Given the description of an element on the screen output the (x, y) to click on. 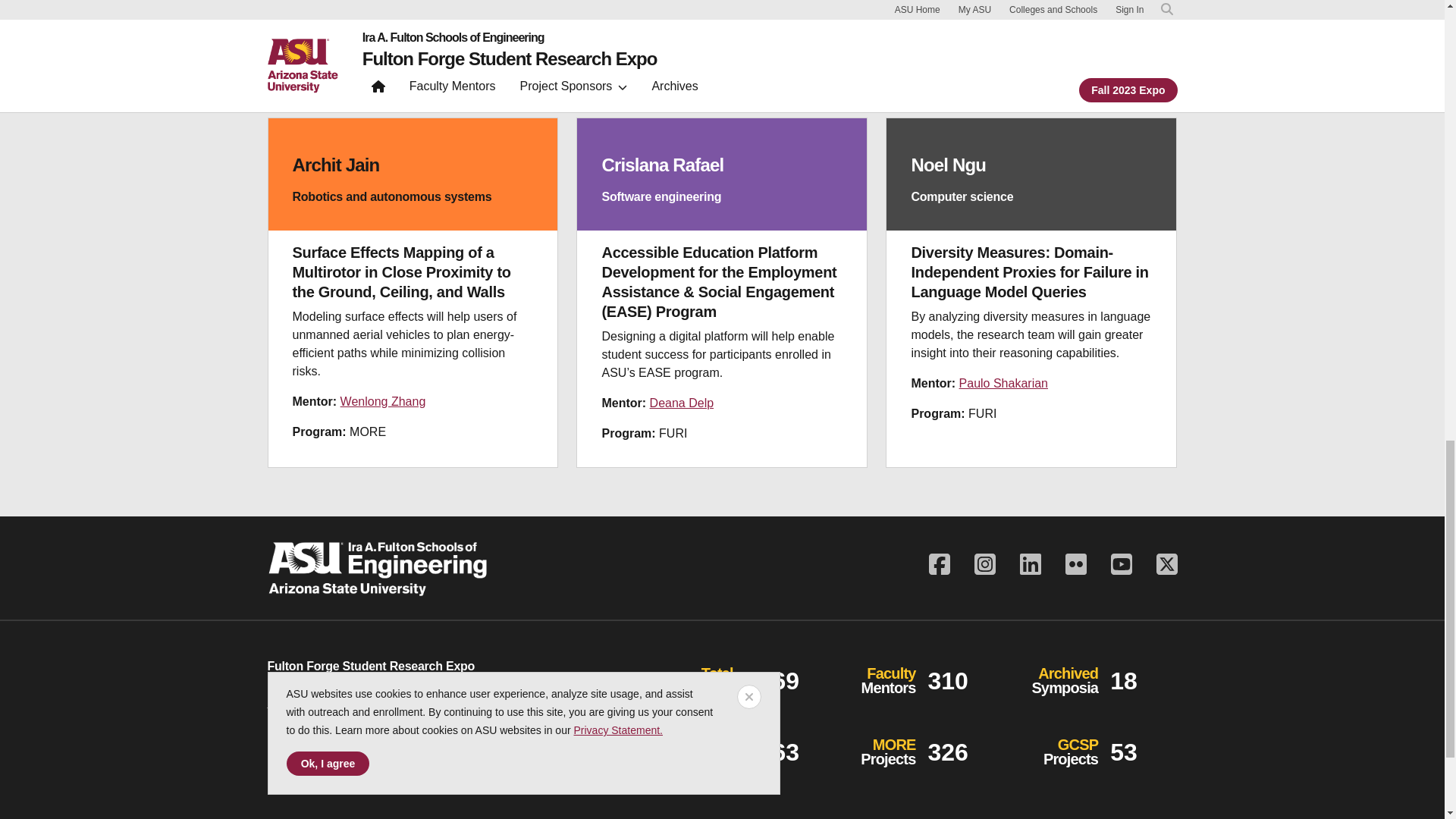
Contact Us (296, 702)
Contribute (322, 754)
Paulo Shakarian (1003, 382)
Wenlong Zhang (383, 400)
Deana Delp (681, 402)
